Given the description of an element on the screen output the (x, y) to click on. 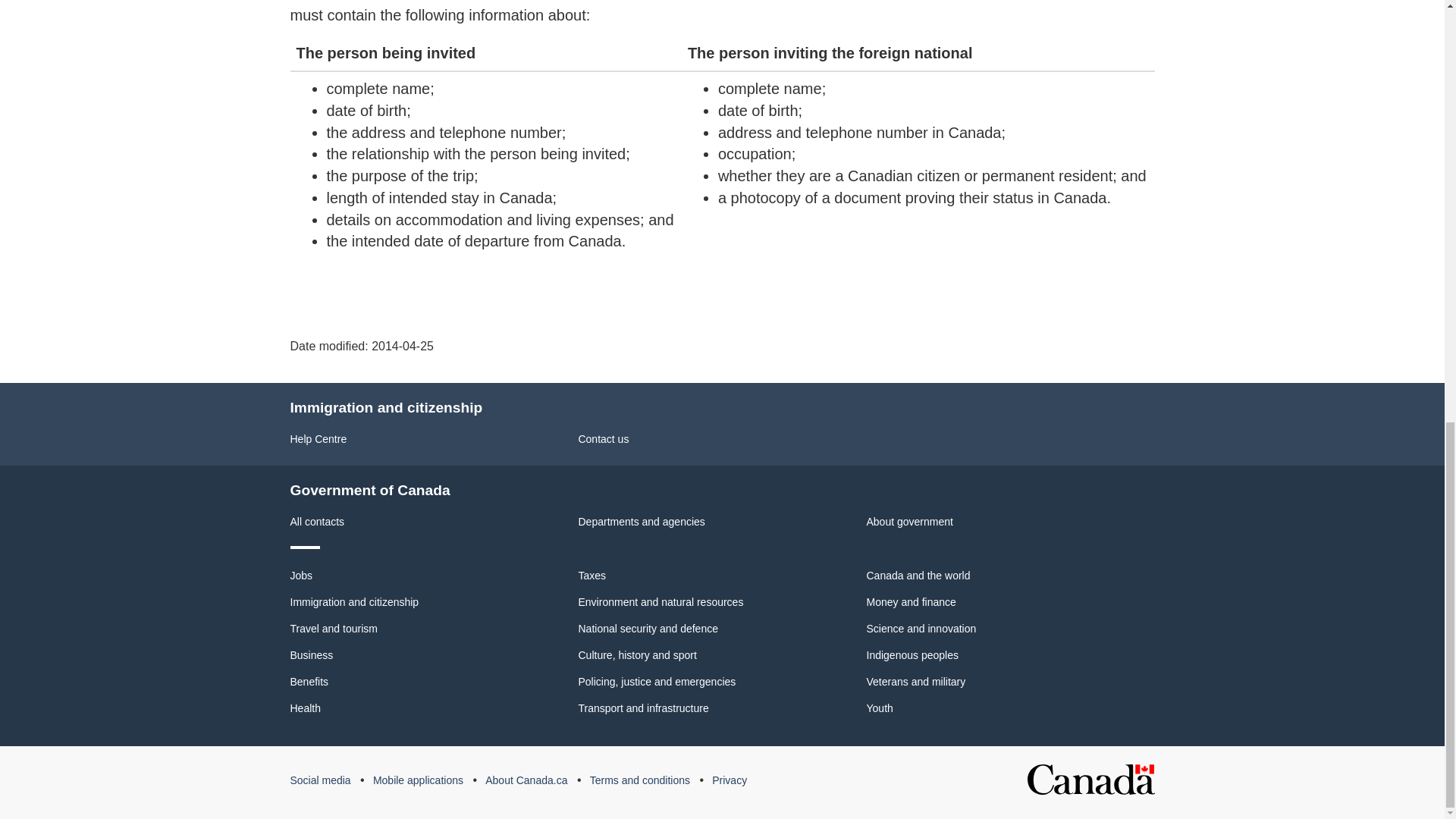
About government (909, 521)
Help Centre (317, 439)
Immigration and citizenship (354, 602)
Travel and tourism (333, 628)
Business (311, 654)
All contacts (316, 521)
Jobs (301, 575)
Benefits (309, 681)
Departments and agencies (641, 521)
Contact us (603, 439)
